Given the description of an element on the screen output the (x, y) to click on. 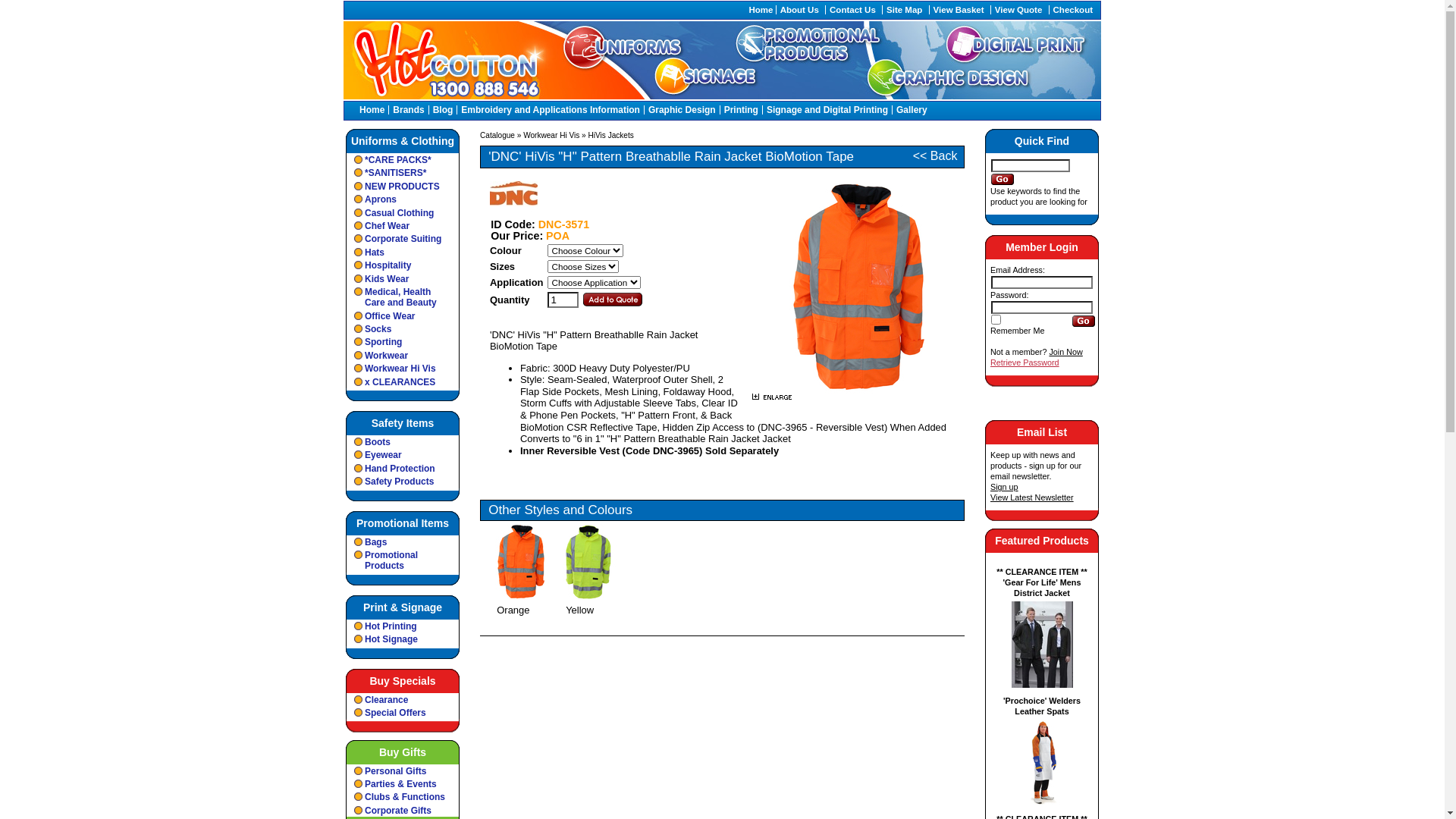
Safety Products Element type: text (402, 480)
Kids Wear Element type: text (402, 278)
Personal Gifts Element type: text (402, 770)
Workwear Hi Vis Element type: text (551, 135)
Home Element type: text (760, 9)
Corporate Suiting Element type: text (402, 238)
Hand Protection Element type: text (402, 467)
Eyewear Element type: text (402, 454)
Embroidery and Applications Information Element type: text (550, 109)
'Prochoice' Welders Leather Spats Element type: text (1041, 750)
*CARE PACKS* Element type: text (402, 159)
HiVis Jackets Element type: text (610, 135)
Hospitality Element type: text (402, 264)
Promotional Products Element type: text (402, 560)
Sign up Element type: text (1004, 486)
Hot Signage Element type: text (402, 638)
Office Wear Element type: text (402, 315)
View Basket Element type: text (958, 9)
Contact Us Element type: text (852, 9)
*SANITISERS* Element type: text (402, 172)
NEW PRODUCTS Element type: text (402, 185)
About Us Element type: text (799, 9)
Site Map Element type: text (904, 9)
Home Element type: text (371, 109)
View Latest Newsletter Element type: text (1031, 497)
<< Back Element type: text (935, 155)
Clearance Element type: text (402, 699)
Graphic Design Element type: text (681, 109)
Join Now Element type: text (1065, 351)
Blog Element type: text (443, 109)
Brands Element type: text (408, 109)
Casual Clothing Element type: text (402, 212)
x CLEARANCES Element type: text (402, 381)
Medical, Health Care and Beauty Element type: text (402, 296)
Aprons Element type: text (402, 198)
Bags Element type: text (402, 541)
Workwear Hi Vis Element type: text (402, 367)
Chef Wear Element type: text (402, 225)
Socks Element type: text (402, 328)
Checkout Element type: text (1072, 9)
Clubs & Functions Element type: text (402, 796)
Parties & Events Element type: text (402, 783)
Retrieve Password Element type: text (1024, 362)
Printing Element type: text (741, 109)
Gallery Element type: text (911, 109)
Sporting Element type: text (402, 341)
Corporate Gifts Element type: text (402, 809)
** CLEARANCE ITEM ** 'Gear For Life' Mens District Jacket Element type: text (1041, 626)
Workwear Element type: text (402, 354)
Special Offers Element type: text (402, 712)
Featured Products Element type: text (1041, 540)
Hats Element type: text (402, 251)
Boots Element type: text (402, 441)
rememberMe Element type: text (996, 319)
Signage and Digital Printing Element type: text (826, 109)
View Quote Element type: text (1018, 9)
Hot Printing Element type: text (402, 625)
